Given the description of an element on the screen output the (x, y) to click on. 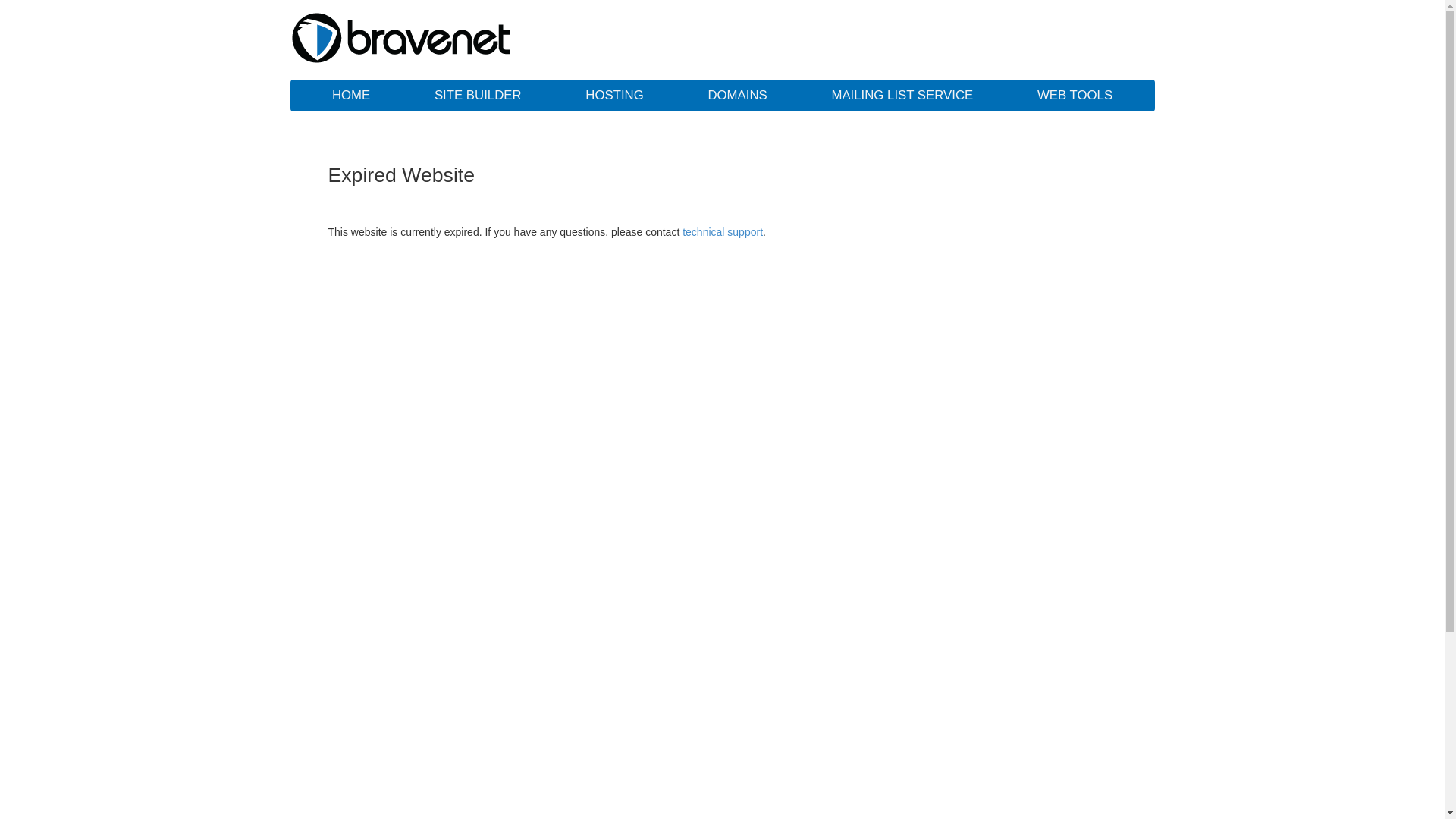
DOMAINS Element type: text (737, 95)
MAILING LIST SERVICE Element type: text (901, 95)
technical support Element type: text (722, 231)
SITE BUILDER Element type: text (478, 95)
HOME Element type: text (350, 95)
WEB TOOLS Element type: text (1074, 95)
HOSTING Element type: text (614, 95)
